Given the description of an element on the screen output the (x, y) to click on. 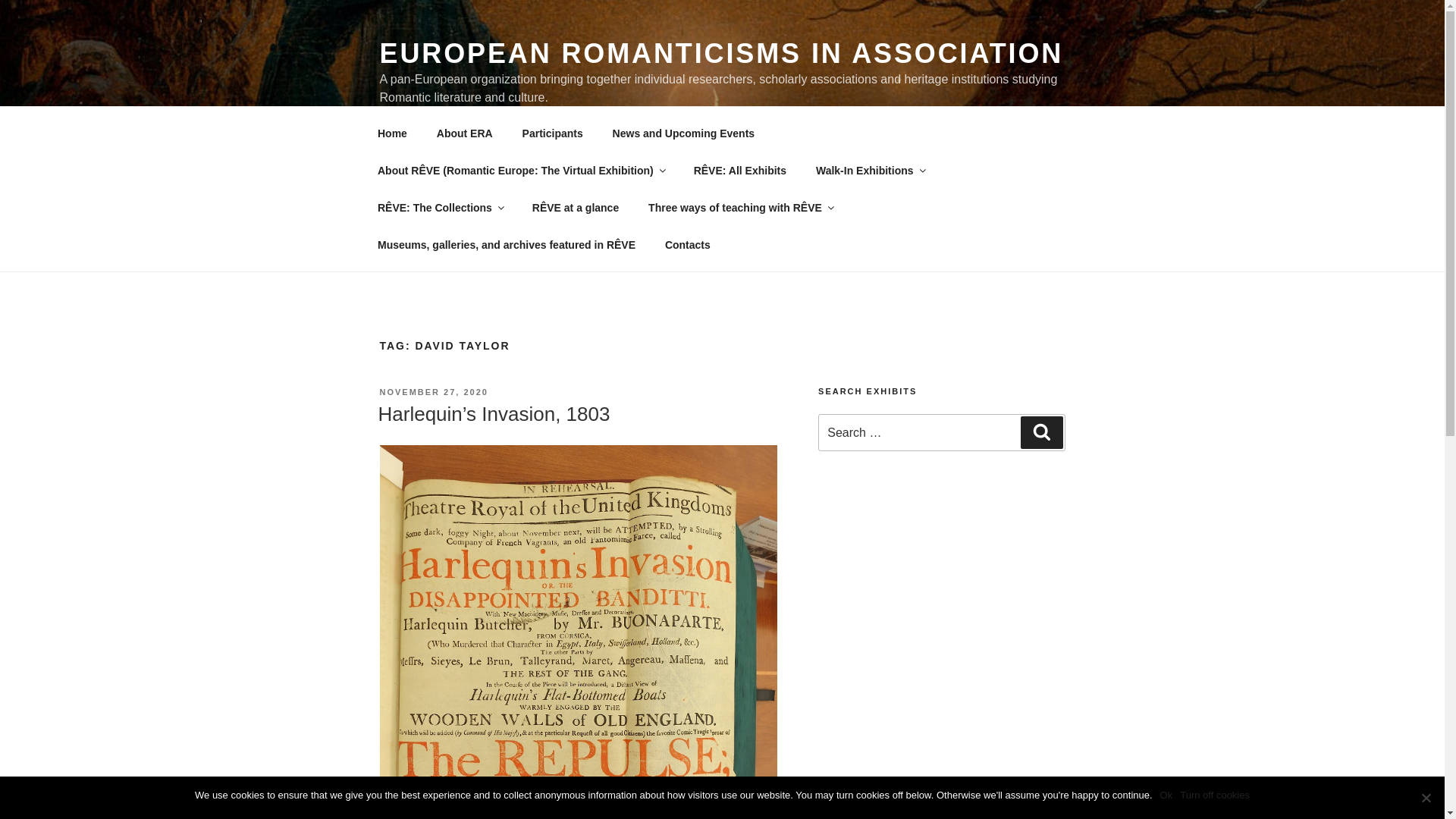
Home (392, 133)
EUROPEAN ROMANTICISMS IN ASSOCIATION (720, 52)
Participants (551, 133)
NOVEMBER 27, 2020 (432, 391)
About ERA (464, 133)
News and Upcoming Events (682, 133)
Contacts (686, 244)
Walk-In Exhibitions (869, 170)
